Given the description of an element on the screen output the (x, y) to click on. 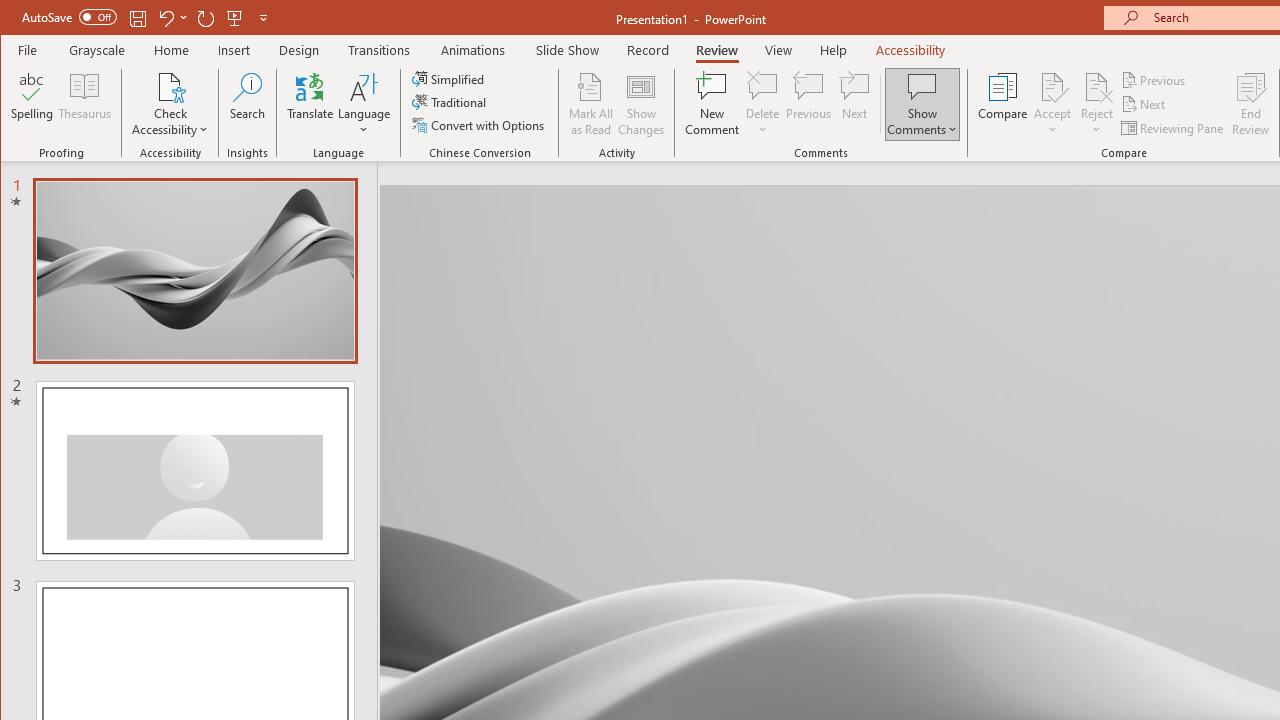
Thesaurus... (84, 104)
End Review (1251, 104)
